Given the description of an element on the screen output the (x, y) to click on. 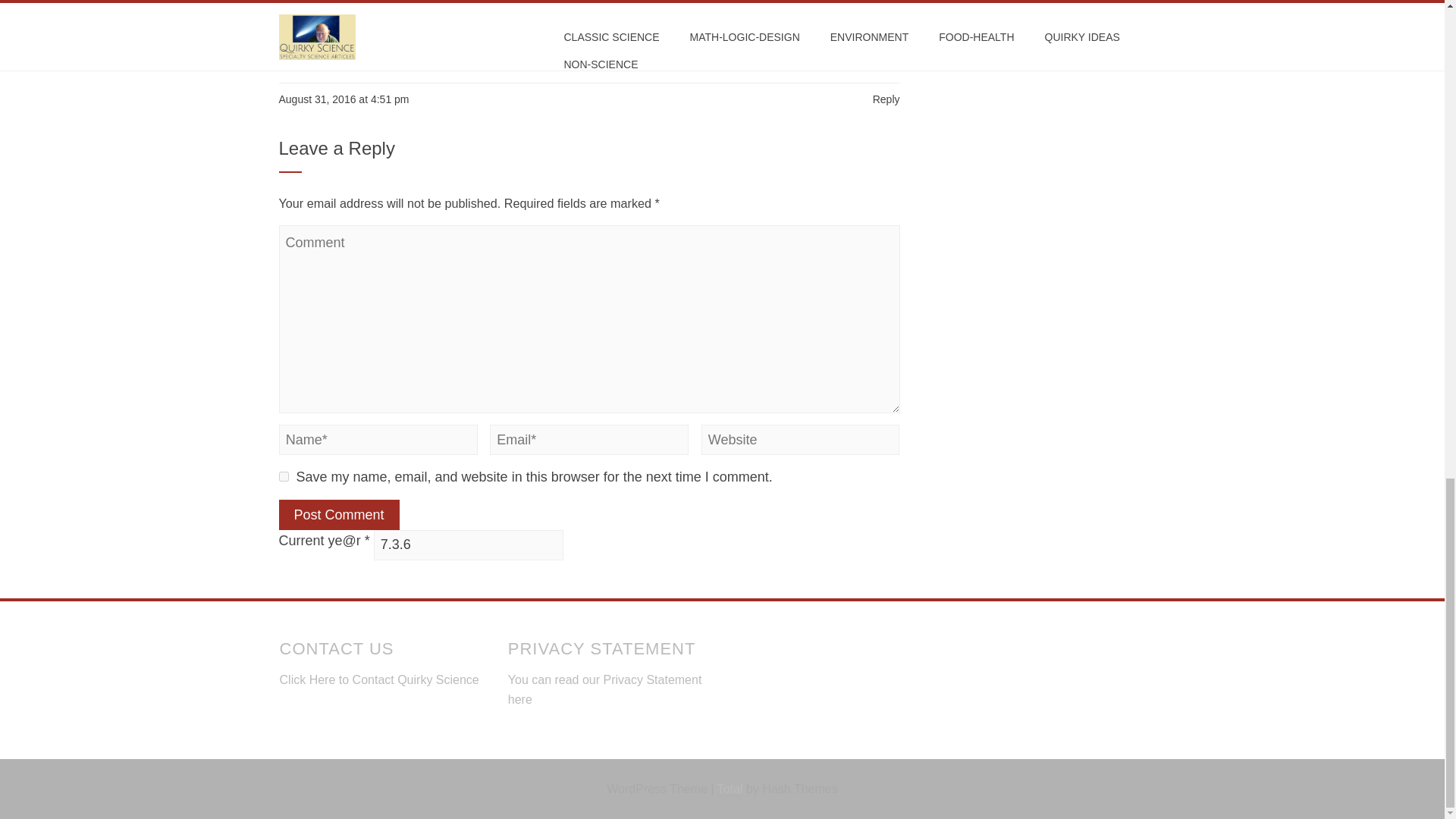
NOT lazy (304, 5)
Post Comment (338, 514)
Contact Quirky Science (415, 679)
7.3.6 (468, 544)
Reply (885, 98)
yes (283, 476)
August 31, 2016 at 4:51 pm (344, 98)
You can read our Privacy Statement here (604, 689)
Post Comment (338, 514)
Total (729, 789)
